Given the description of an element on the screen output the (x, y) to click on. 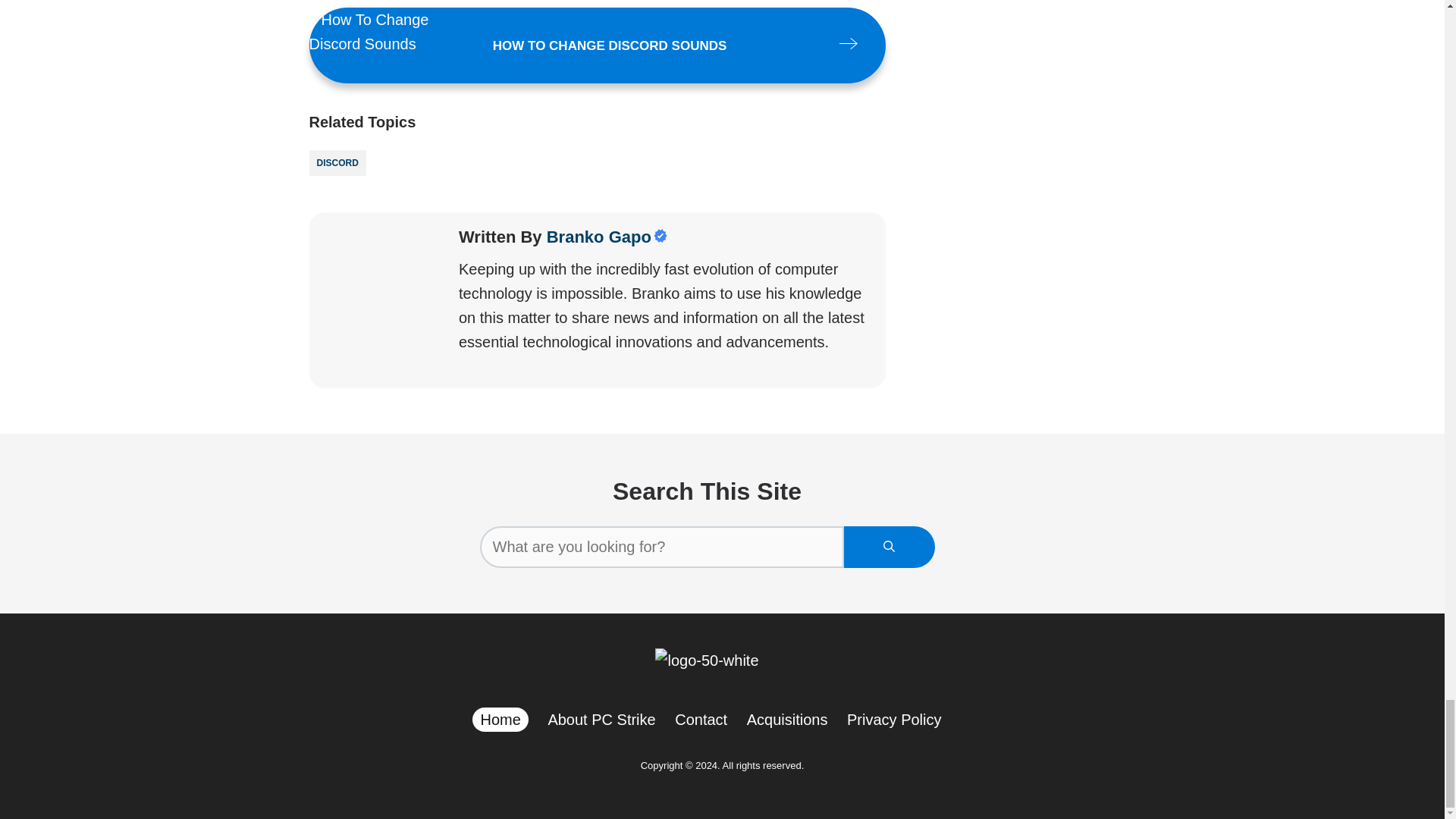
Search for: (661, 547)
